Given the description of an element on the screen output the (x, y) to click on. 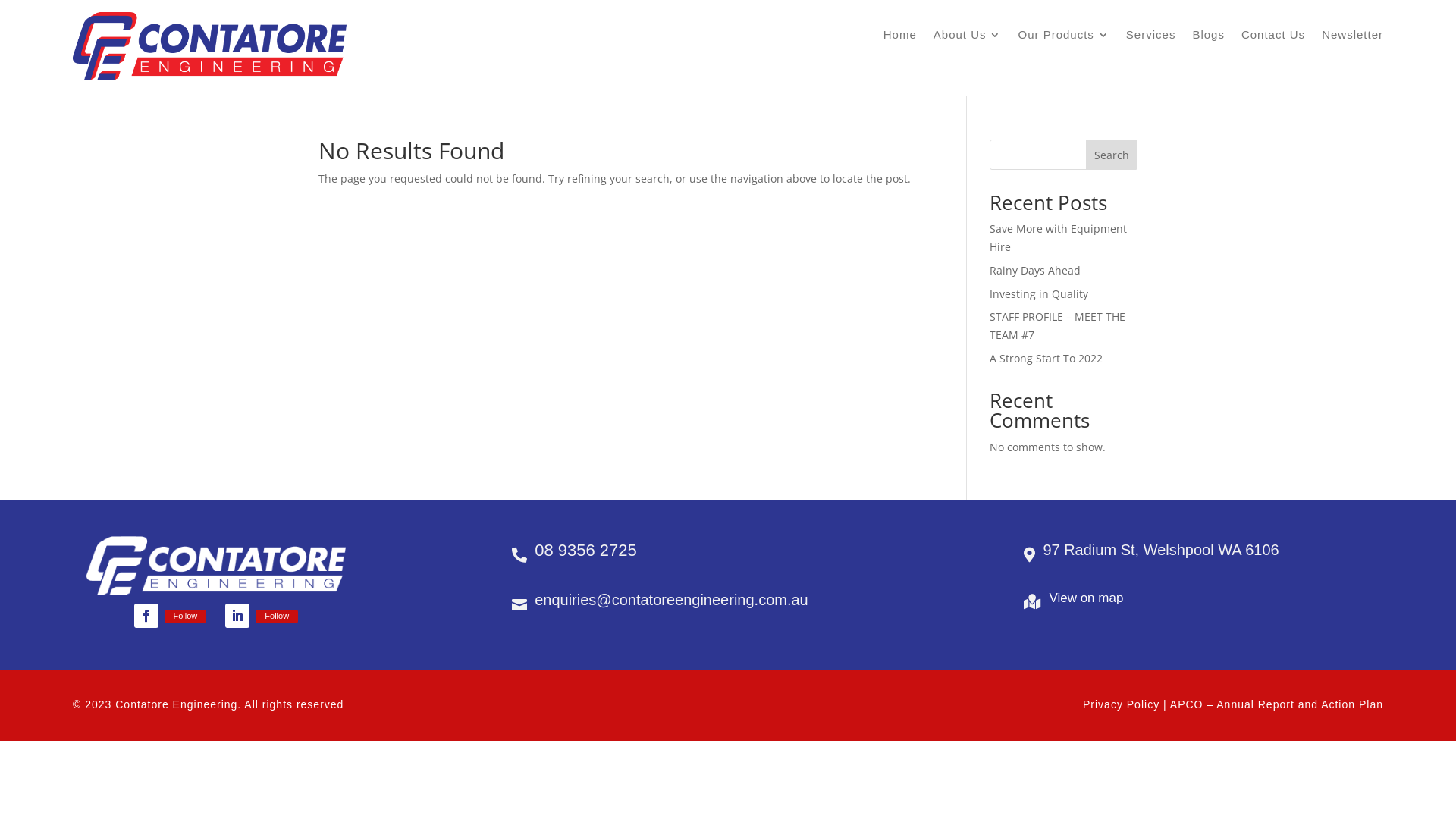
Contatore-Engineering-Logo_V2 Element type: hover (209, 46)
Follow Element type: text (276, 616)
Follow on LinkedIn Element type: hover (237, 615)
Our Products Element type: text (1062, 37)
Search Element type: text (1111, 154)
Follow Element type: text (184, 616)
Home Element type: text (899, 37)
Follow on Facebook Element type: hover (145, 615)
Rainy Days Ahead Element type: text (1034, 270)
Save More with Equipment Hire Element type: text (1057, 237)
Contatore-Engineering_Logo_White-03-01 Element type: hover (215, 565)
Newsletter Element type: text (1352, 37)
Services Element type: text (1151, 37)
Contact Us Element type: text (1273, 37)
Blogs Element type: text (1208, 37)
About Us Element type: text (967, 37)
Investing in Quality Element type: text (1038, 293)
A Strong Start To 2022 Element type: text (1045, 358)
View on map Element type: text (1085, 597)
Privacy Policy Element type: text (1120, 704)
